Given the description of an element on the screen output the (x, y) to click on. 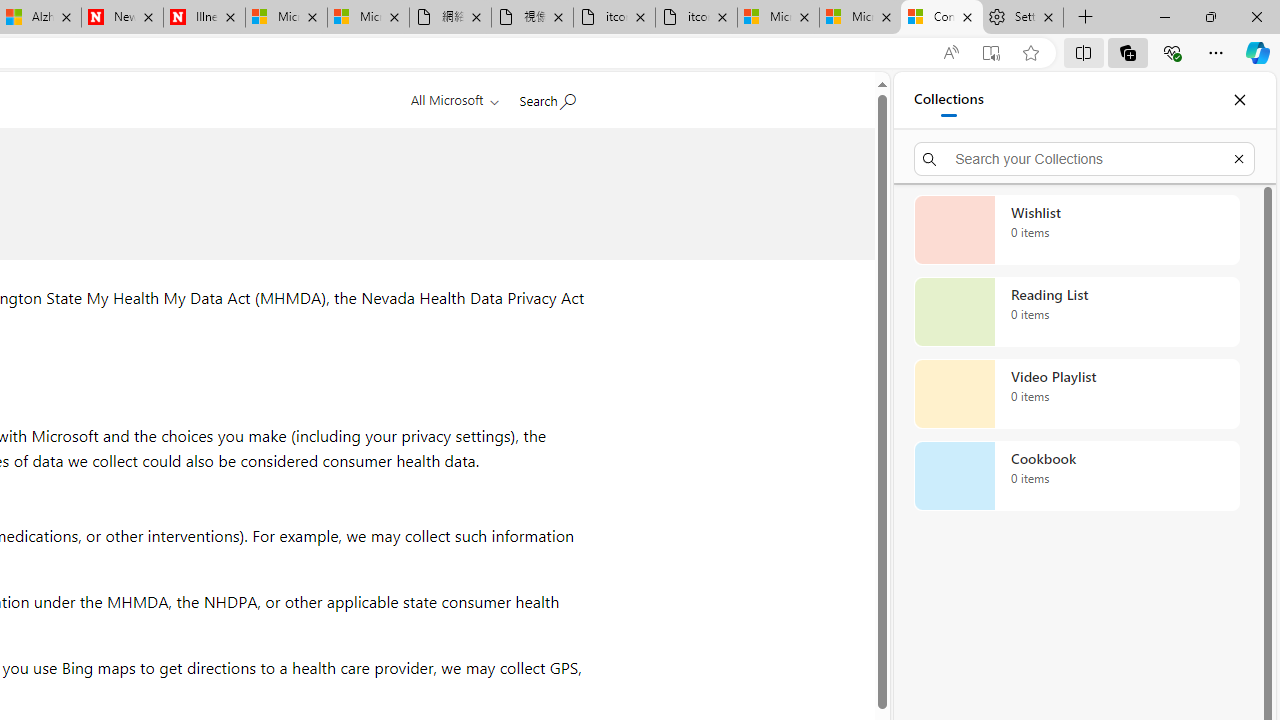
Newsweek - News, Analysis, Politics, Business, Technology (121, 17)
Search Microsoft.com (546, 97)
itconcepthk.com/projector_solutions.mp4 (696, 17)
Wishlist collection, 0 items (1076, 229)
Cookbook collection, 0 items (1076, 475)
Consumer Health Data Privacy Policy (941, 17)
Reading List collection, 0 items (1076, 312)
